Given the description of an element on the screen output the (x, y) to click on. 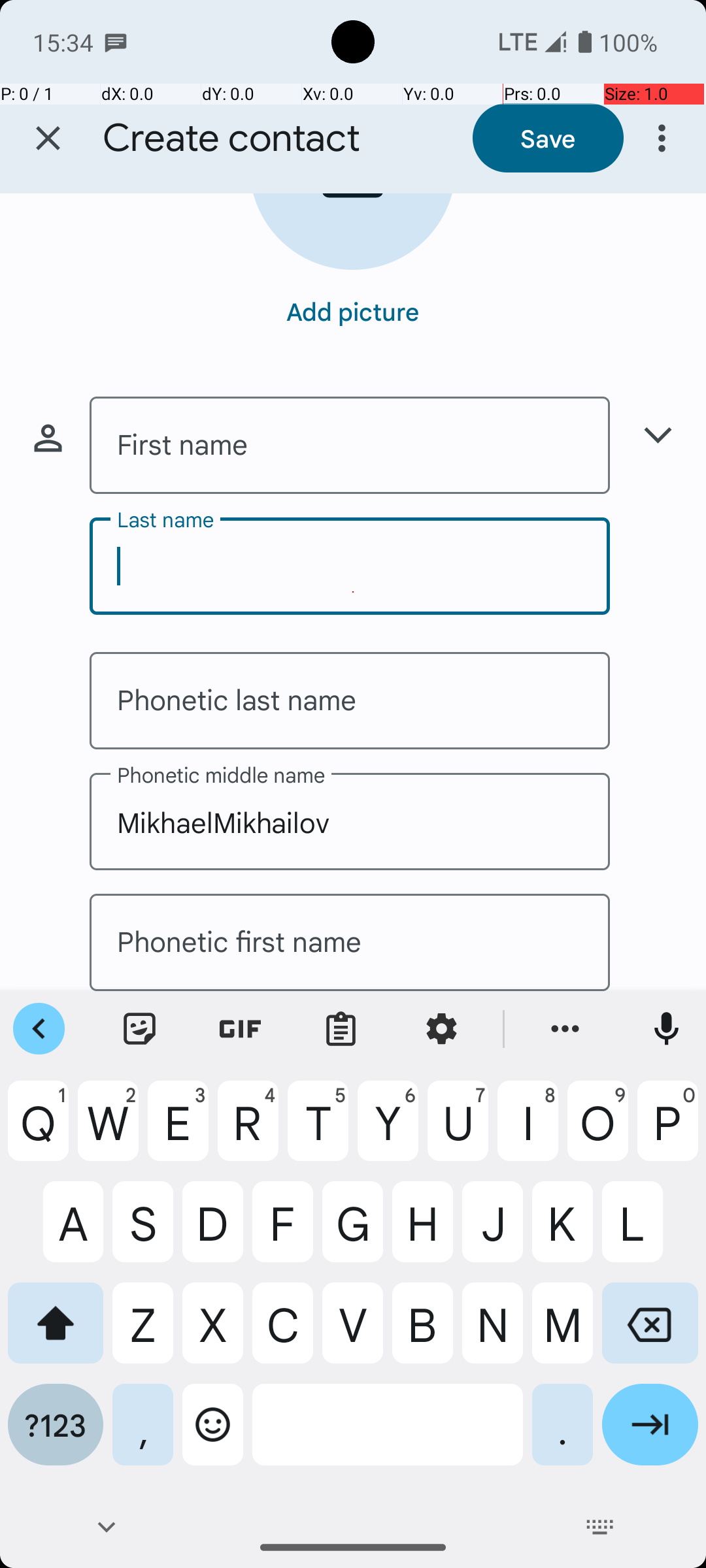
Add contact photo Element type: android.widget.FrameLayout (352, 231)
Add picture Element type: android.widget.Button (352, 310)
Phonetic last name Element type: android.widget.EditText (349, 700)
MikhaelMikhailov Element type: android.widget.EditText (349, 821)
Phonetic first name Element type: android.widget.EditText (349, 942)
Show more name fields Element type: android.widget.ImageView (657, 434)
